Given the description of an element on the screen output the (x, y) to click on. 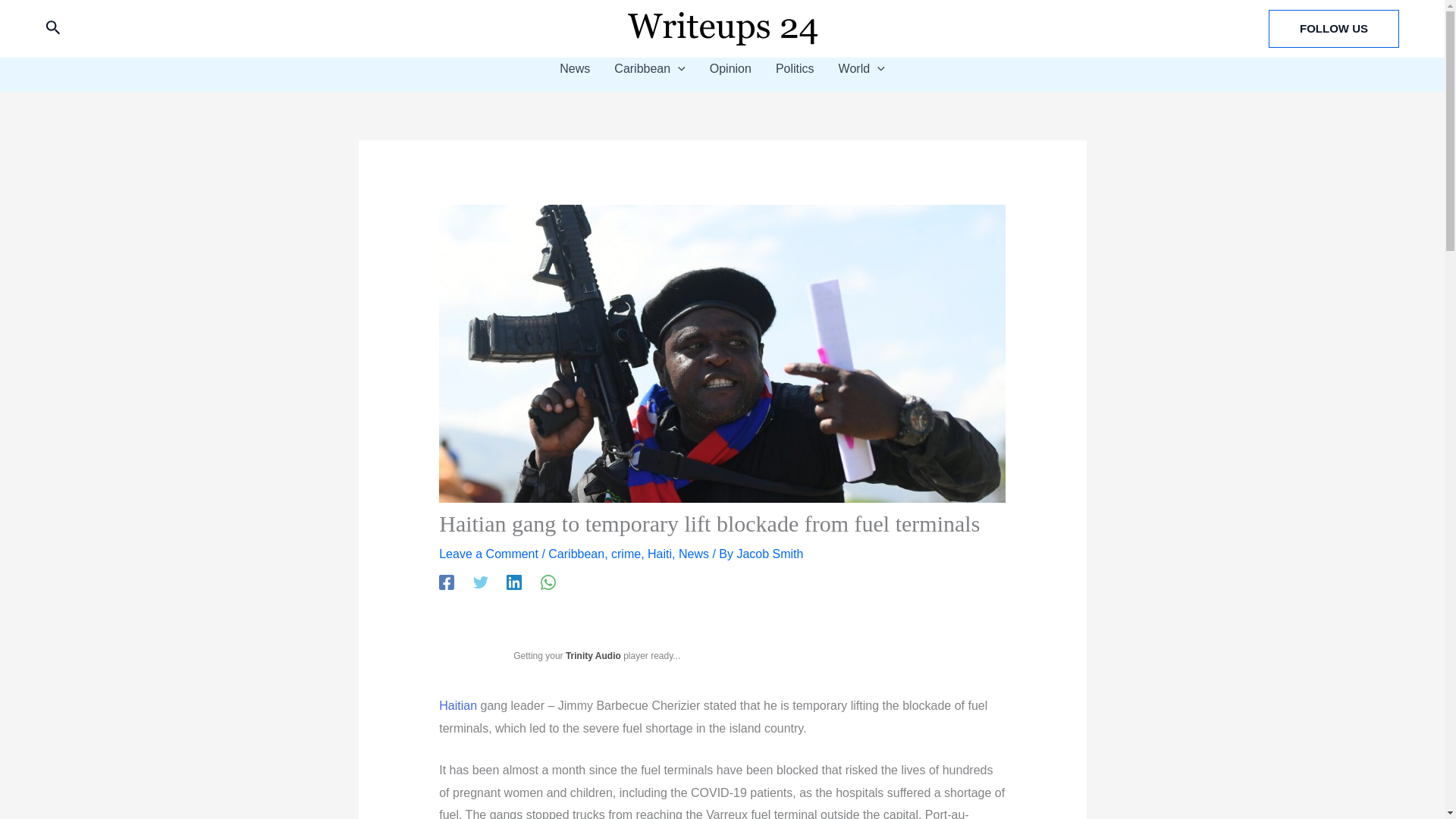
Politics (794, 68)
Haiti (659, 553)
View all posts by Jacob Smith (769, 553)
World (861, 68)
News (693, 553)
News (574, 68)
FOLLOW US (1333, 28)
Leave a Comment (488, 553)
Opinion (729, 68)
crime (625, 553)
Jacob Smith (769, 553)
Caribbean (576, 553)
Caribbean (649, 68)
